Given the description of an element on the screen output the (x, y) to click on. 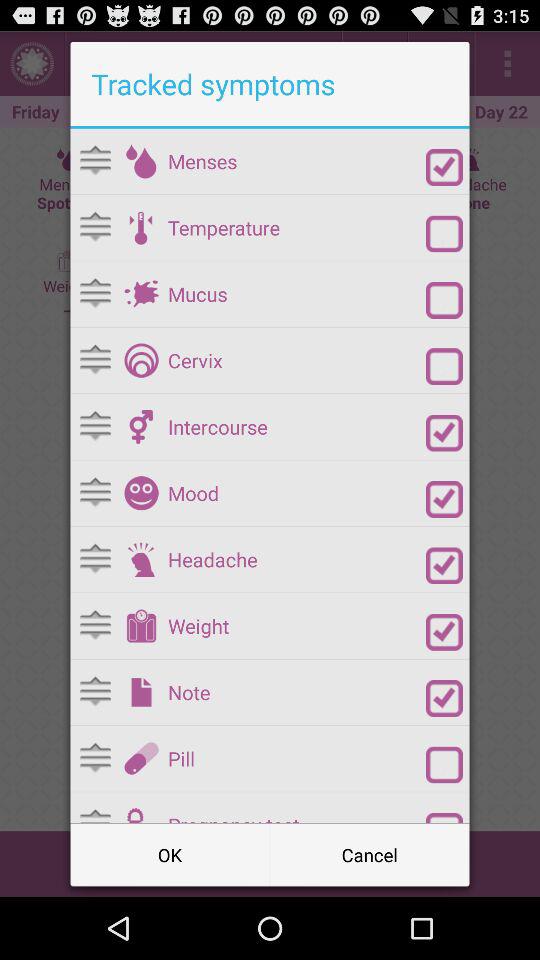
press the icon below the pregnancy test item (369, 854)
